Given the description of an element on the screen output the (x, y) to click on. 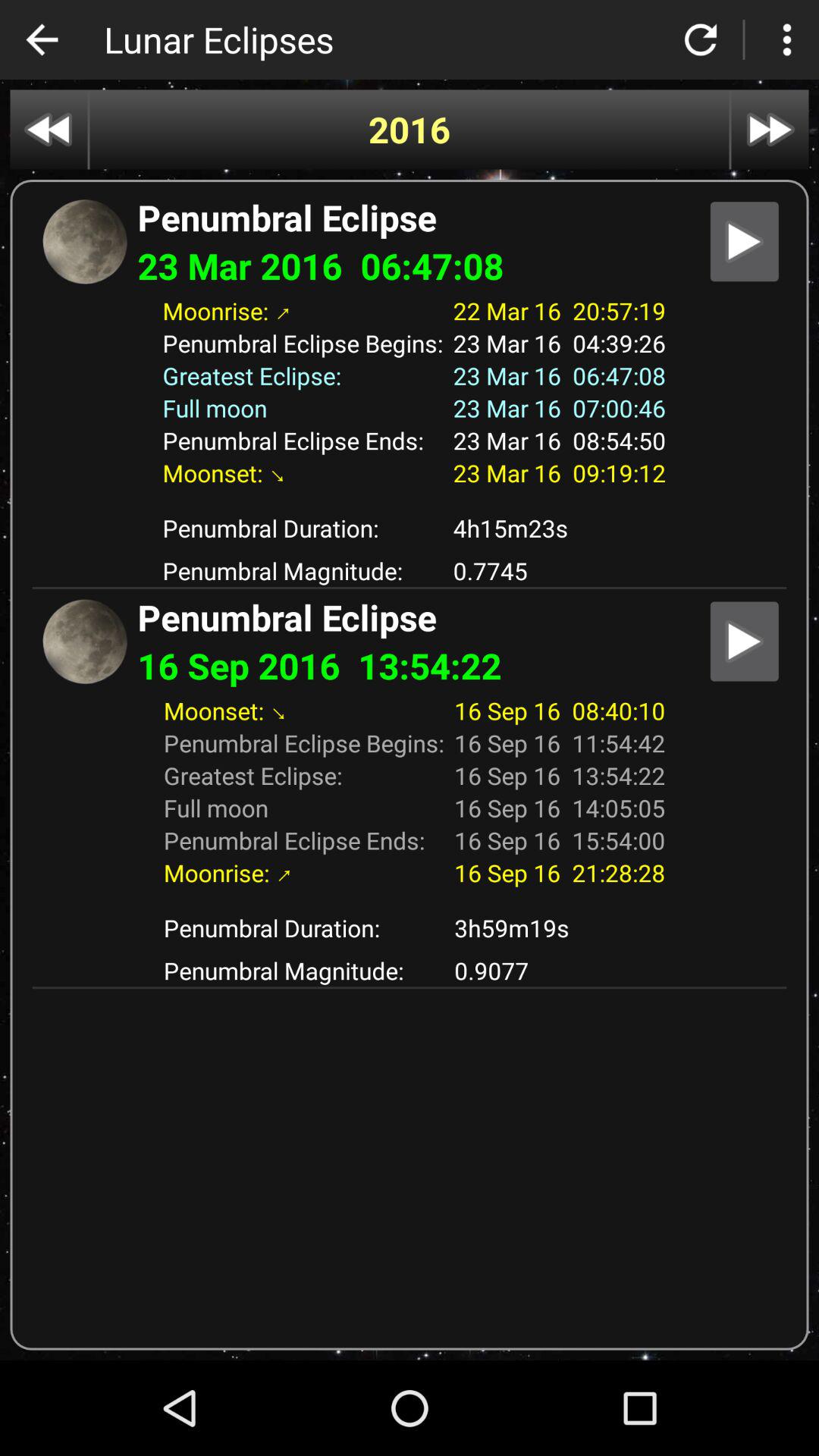
open the 4h15m23s app (559, 527)
